Given the description of an element on the screen output the (x, y) to click on. 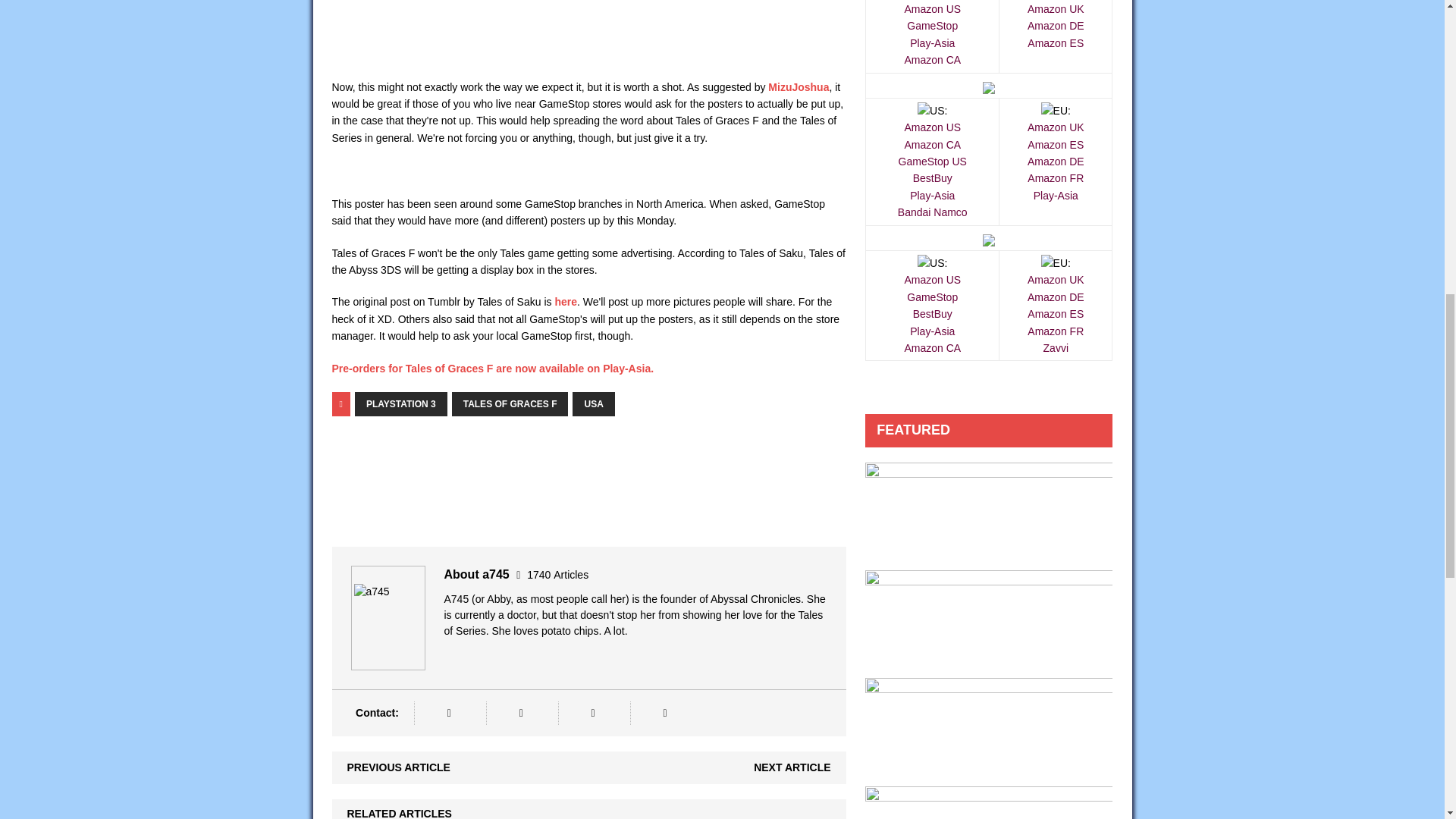
MizuJoshua (798, 87)
Visit the website of a745 (448, 712)
here (565, 301)
More articles written by a745' (557, 574)
Follow a745 on Twitter (592, 712)
Follow a745 on YouTube (664, 712)
PLAYSTATION 3 (400, 404)
Follow a745 on Facebook (520, 712)
